Given the description of an element on the screen output the (x, y) to click on. 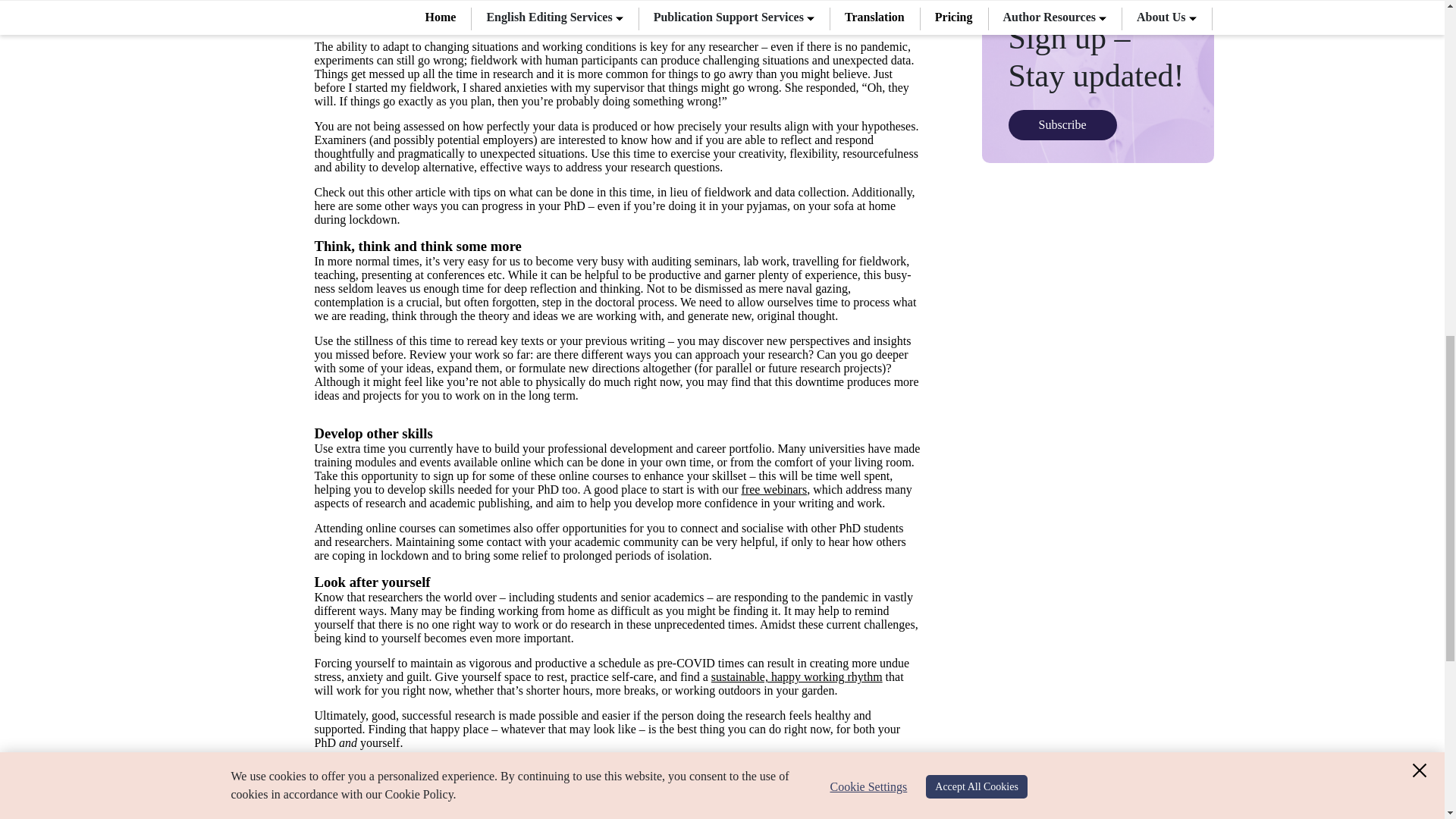
Subscribe (1062, 124)
sustainable, happy working rhythm (796, 676)
Subscribe (1062, 124)
free webinars (774, 489)
